Given the description of an element on the screen output the (x, y) to click on. 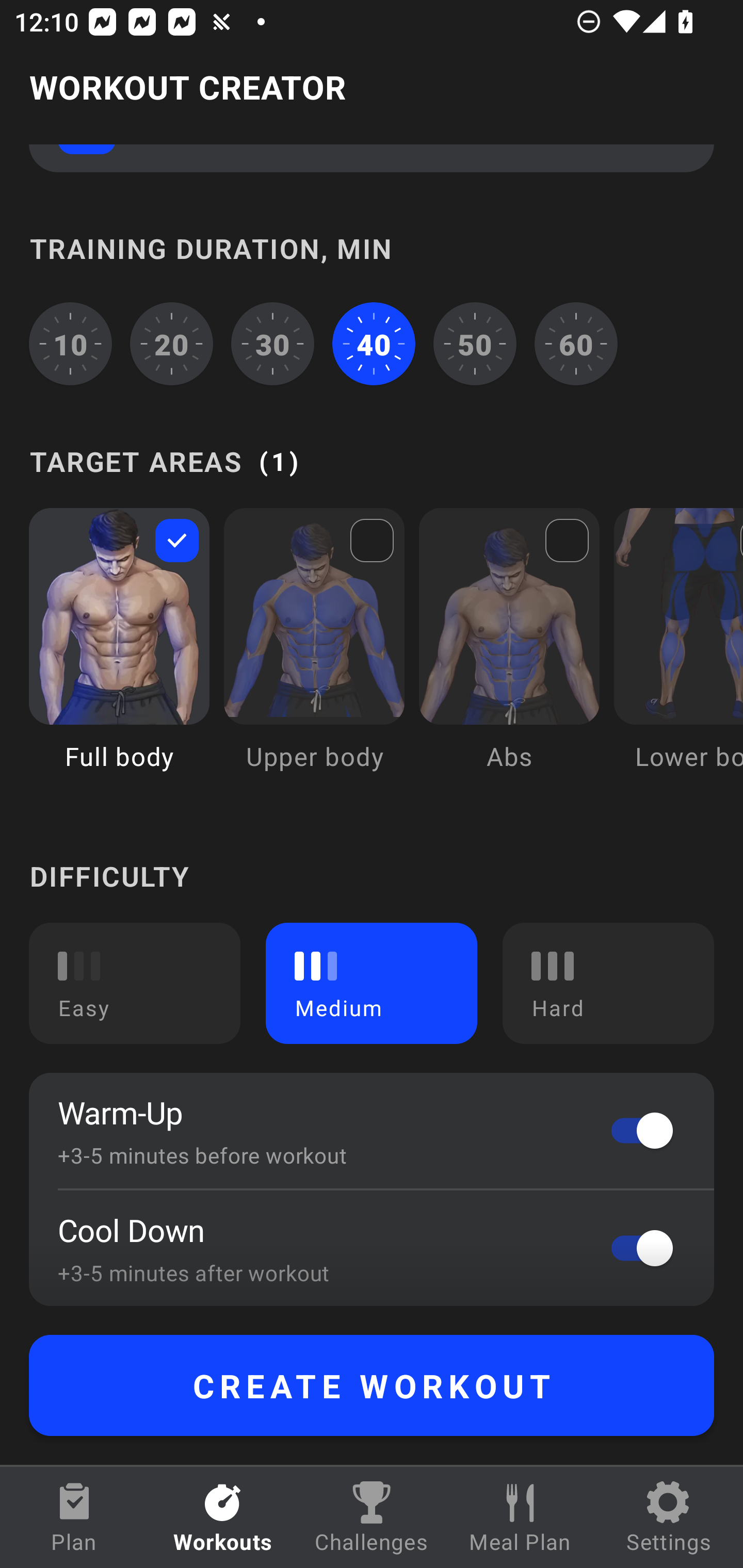
10 (70, 344)
20 (171, 344)
30 (272, 344)
40 (373, 344)
50 (474, 344)
60 (575, 344)
Upper body (313, 653)
Abs (509, 653)
Lower body (678, 653)
Easy (134, 982)
Hard (608, 982)
CREATE WORKOUT (371, 1385)
 Plan  (74, 1517)
 Challenges  (371, 1517)
 Meal Plan  (519, 1517)
 Settings  (668, 1517)
